Given the description of an element on the screen output the (x, y) to click on. 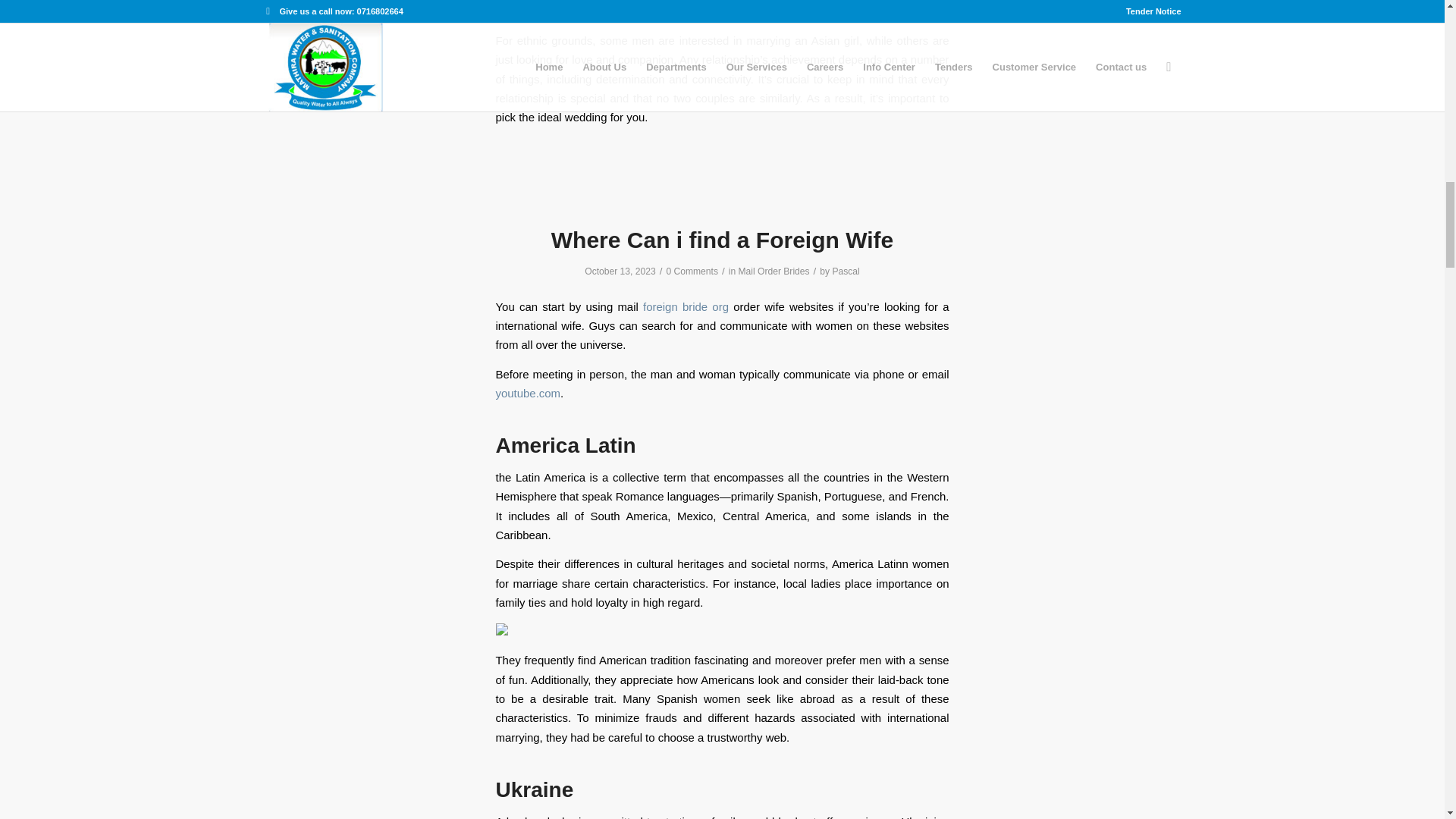
Where Can i find a Foreign Wife (722, 239)
Posts by Pascal (845, 271)
0 Comments (691, 271)
Permanent Link: Where Can i find a Foreign Wife (722, 239)
